Given the description of an element on the screen output the (x, y) to click on. 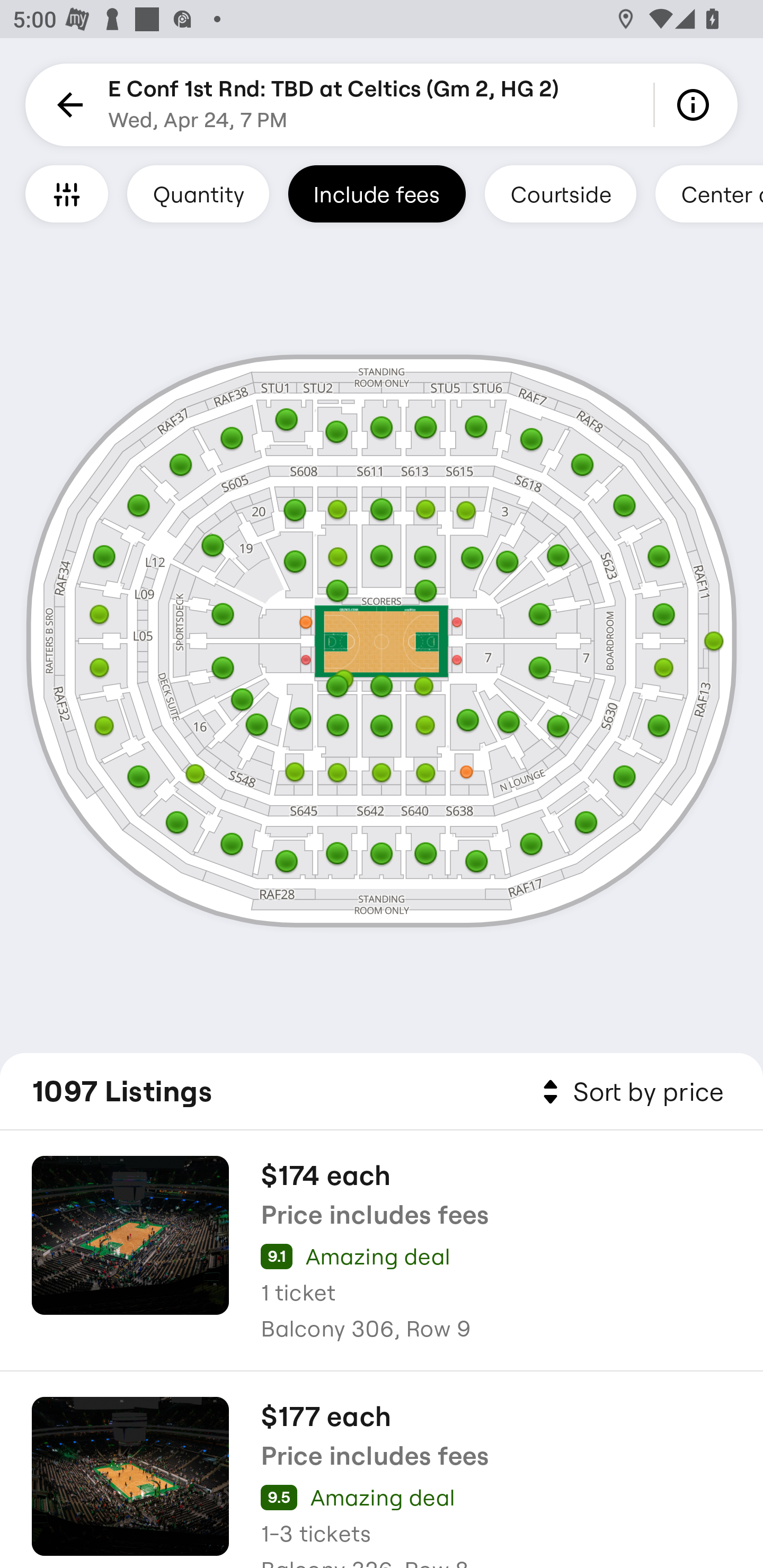
Back (66, 104)
Info (695, 104)
Filters and Accessible Seating (66, 193)
Quantity (198, 193)
Include fees (376, 193)
Courtside (560, 193)
Center court (709, 193)
Sort by price (629, 1091)
